Given the description of an element on the screen output the (x, y) to click on. 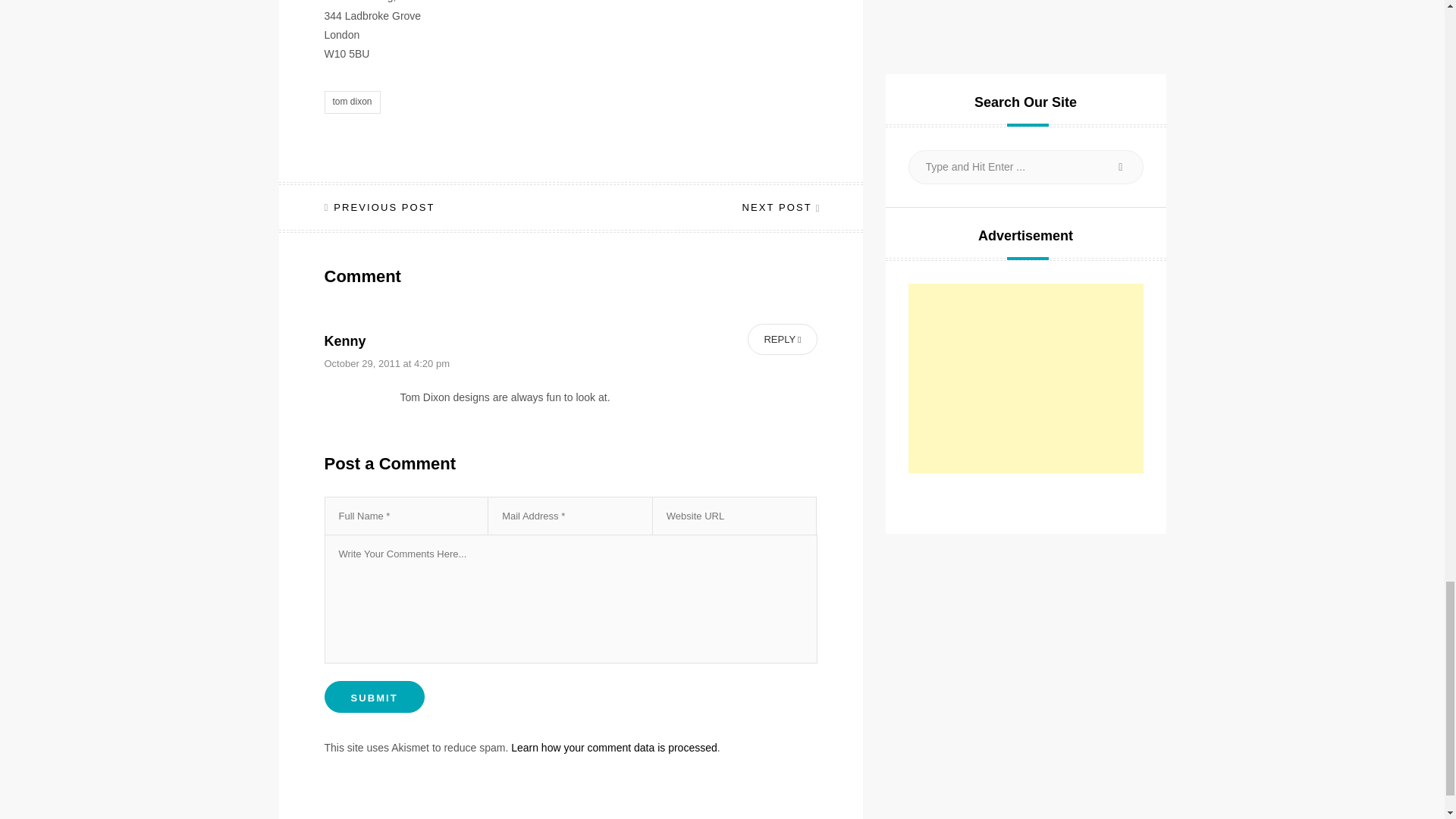
REPLY (782, 338)
Submit (374, 696)
NEXT POST (778, 206)
PREVIOUS POST (379, 206)
October 29, 2011 at 4:20 pm (386, 363)
Submit (374, 696)
Learn how your comment data is processed (614, 747)
tom dixon (352, 101)
